Given the description of an element on the screen output the (x, y) to click on. 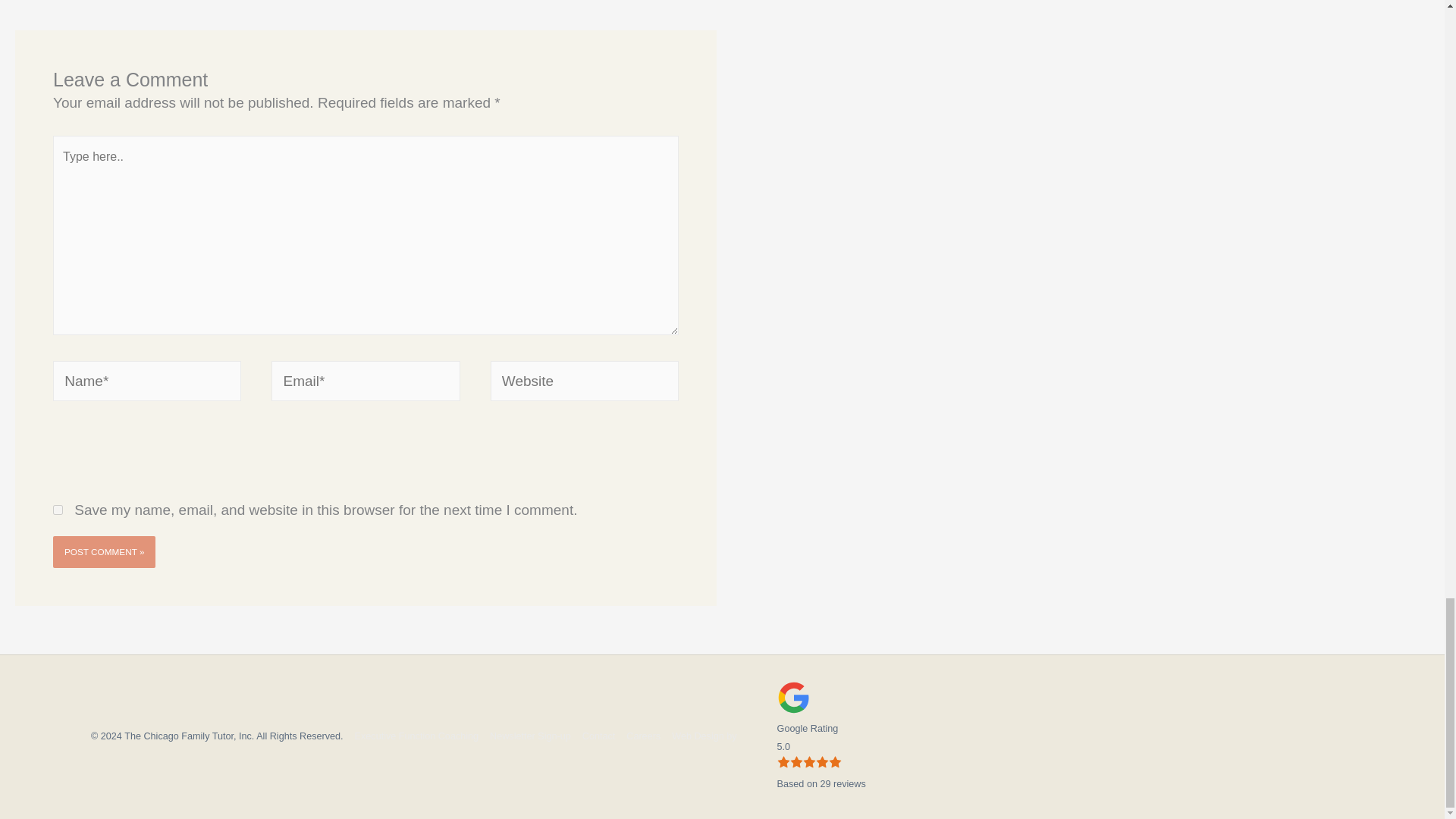
yes (57, 510)
